Given the description of an element on the screen output the (x, y) to click on. 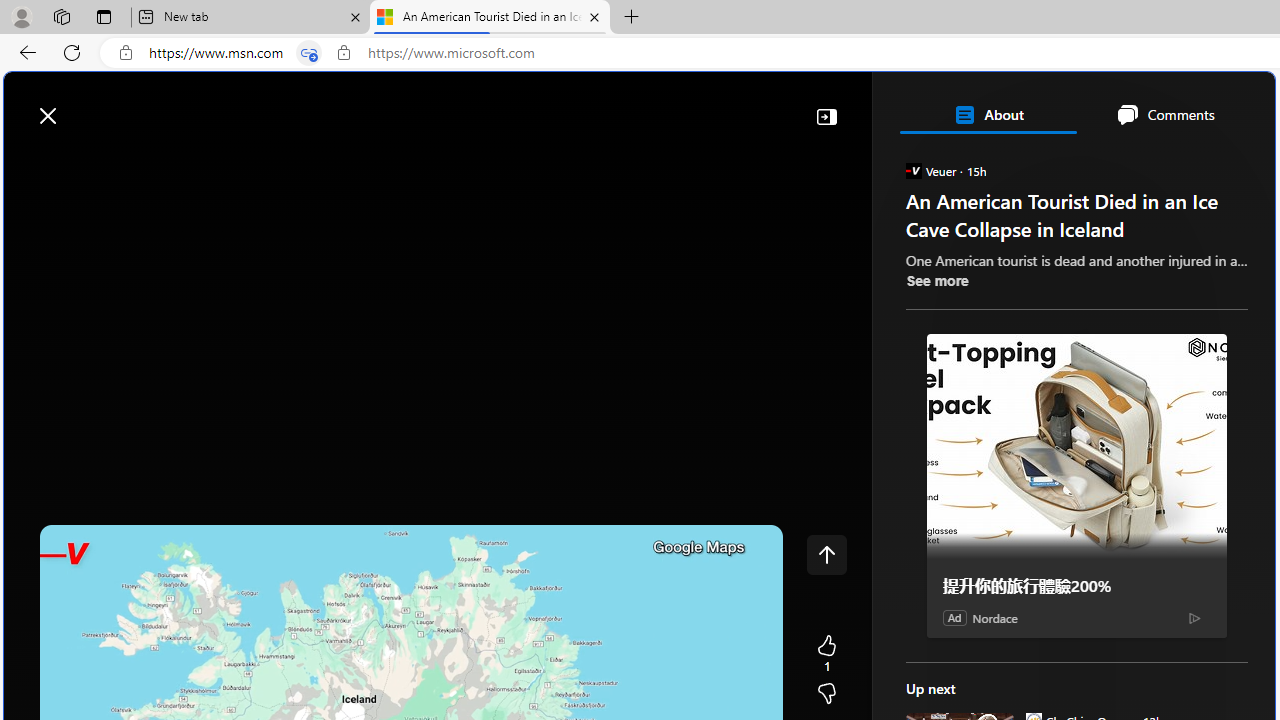
Comments (1165, 114)
Skip to footer (82, 105)
Enter your search term (644, 106)
